Given the description of an element on the screen output the (x, y) to click on. 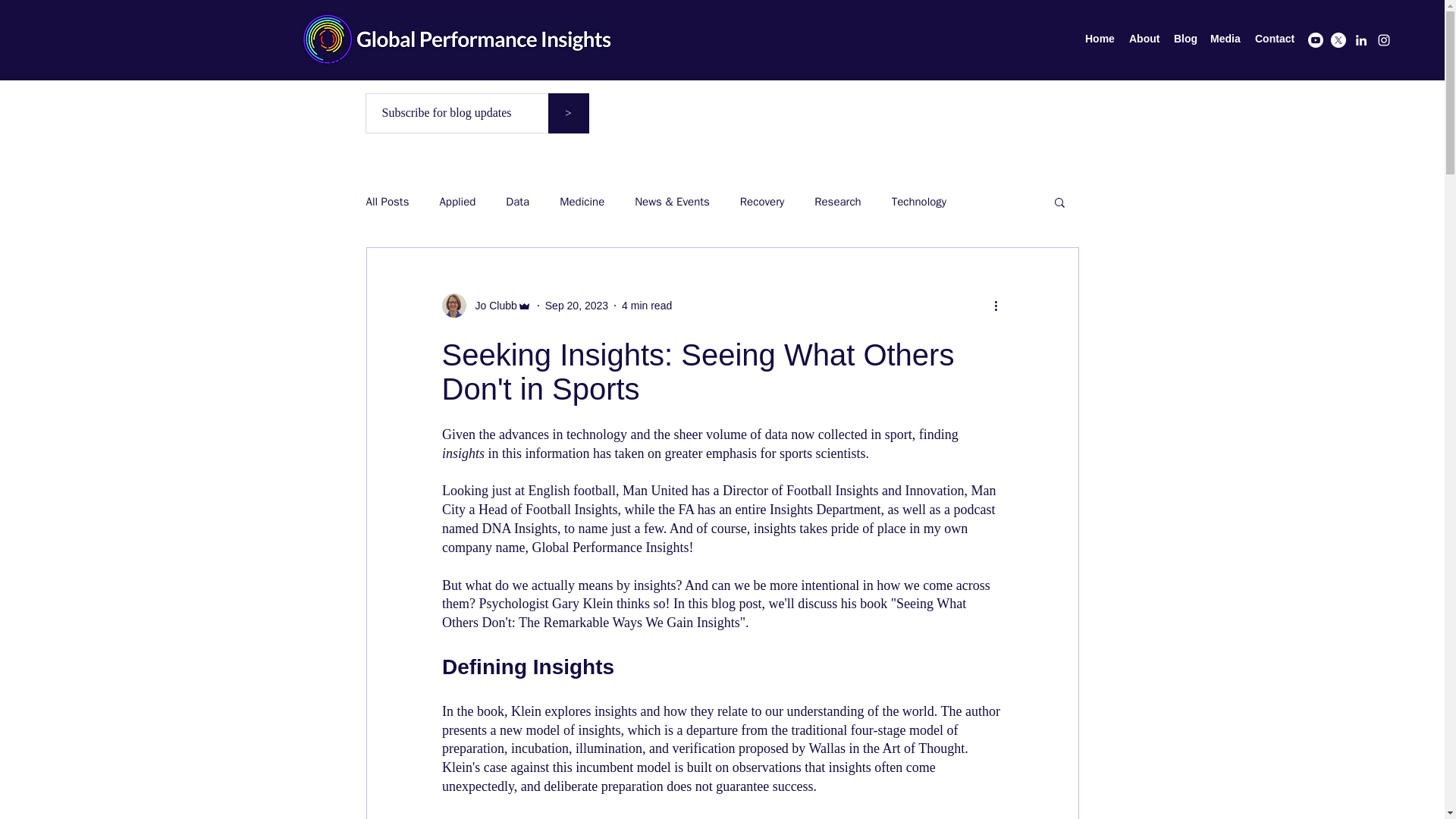
Medicine (581, 201)
4 min read (646, 304)
All Posts (387, 201)
Research (836, 201)
Contact (1273, 38)
Recovery (761, 201)
About (1143, 38)
Media (1224, 38)
Applied (457, 201)
Jo Clubb (490, 304)
